Given the description of an element on the screen output the (x, y) to click on. 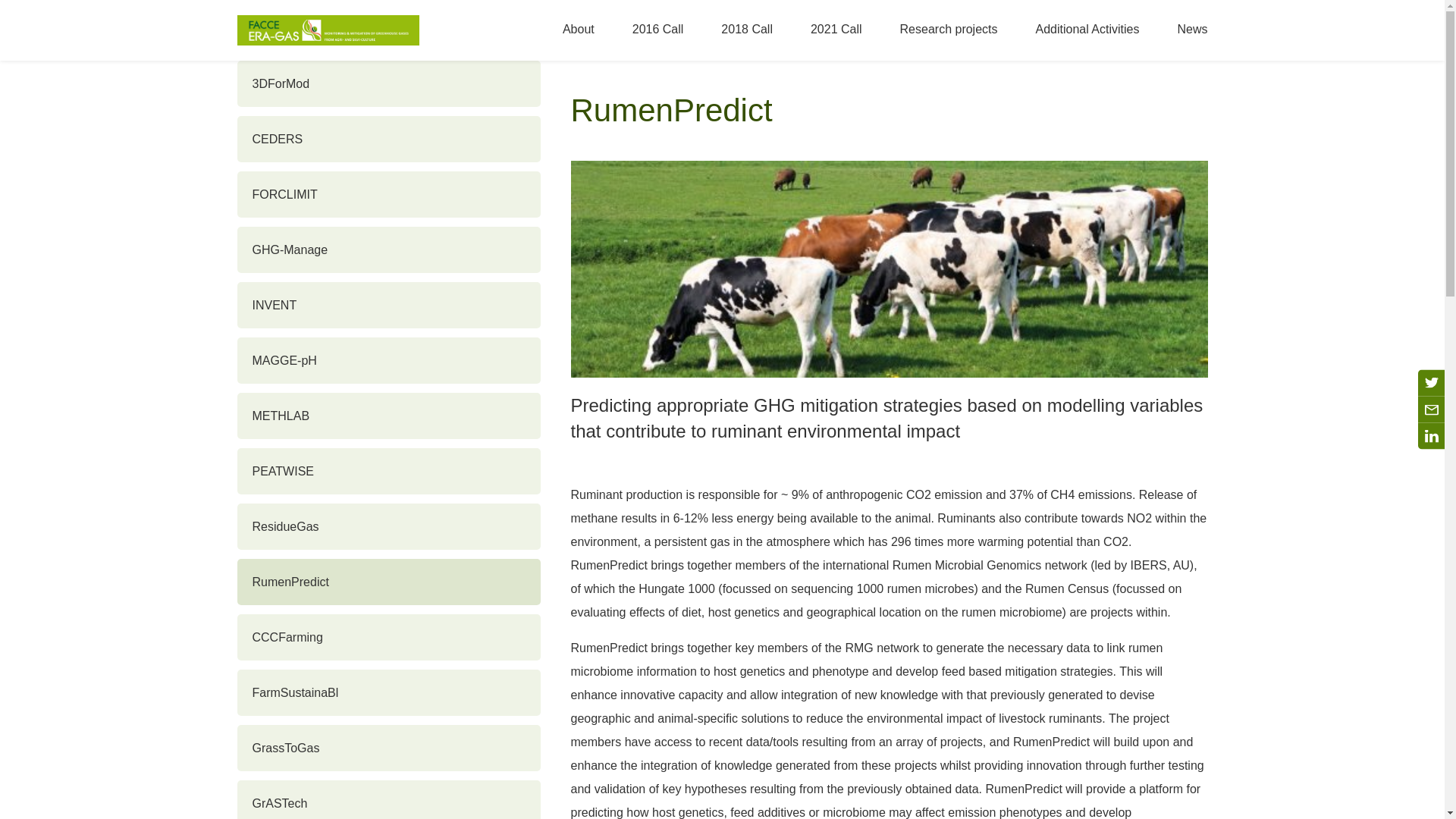
CEDERS (387, 139)
CCCFarming (387, 637)
GrassToGas (387, 747)
ResidueGas (387, 526)
3DForMod (387, 83)
FarmSustainaBl (387, 692)
METHLAB (387, 415)
PEATWISE (387, 470)
CEDERS (387, 139)
GrASTech (387, 799)
FORCLIMIT (387, 194)
ResidueGas (387, 526)
GHG-Manage (387, 249)
METHLAB (387, 415)
